Given the description of an element on the screen output the (x, y) to click on. 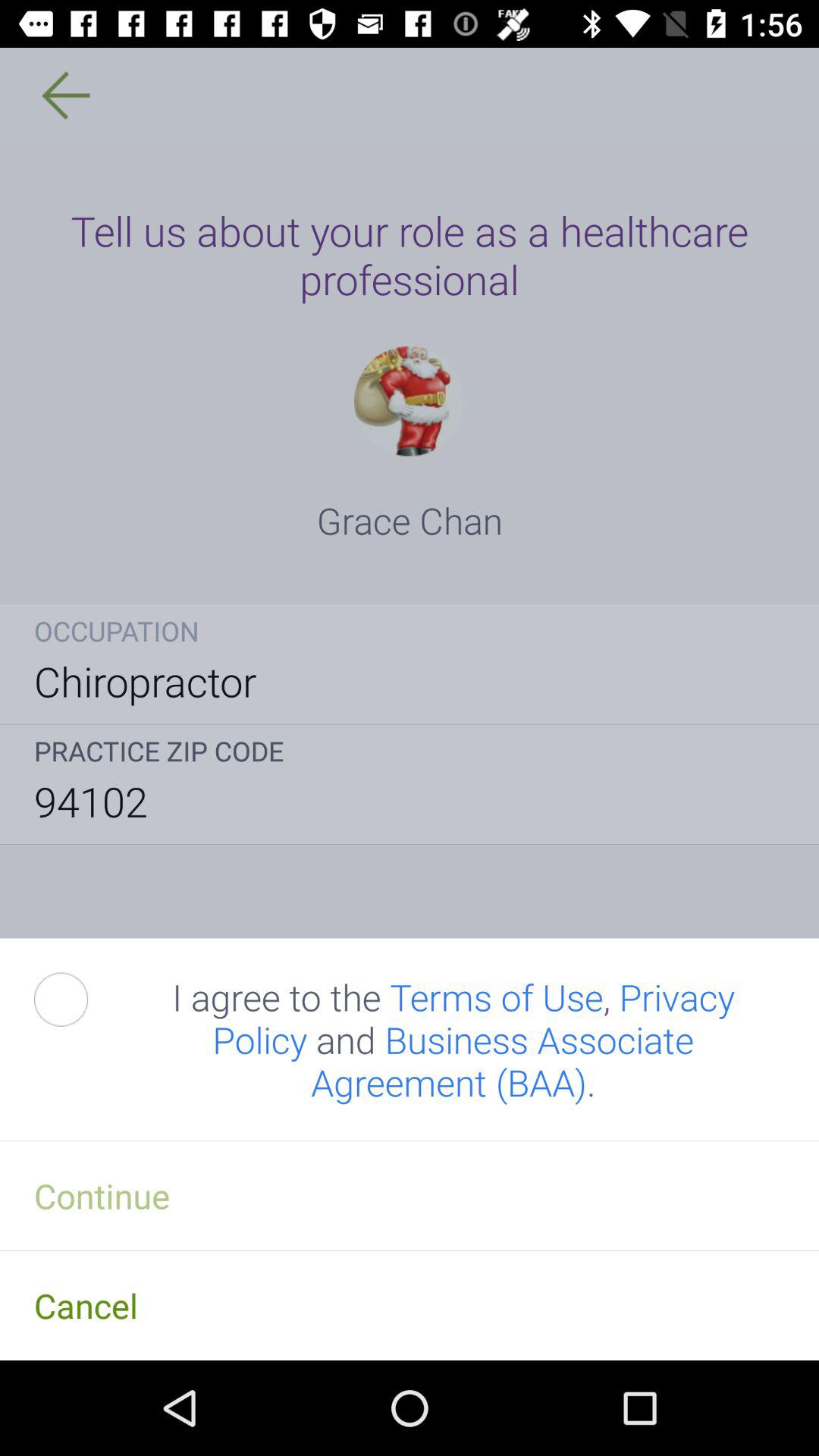
accept terms and conditions (78, 999)
